Given the description of an element on the screen output the (x, y) to click on. 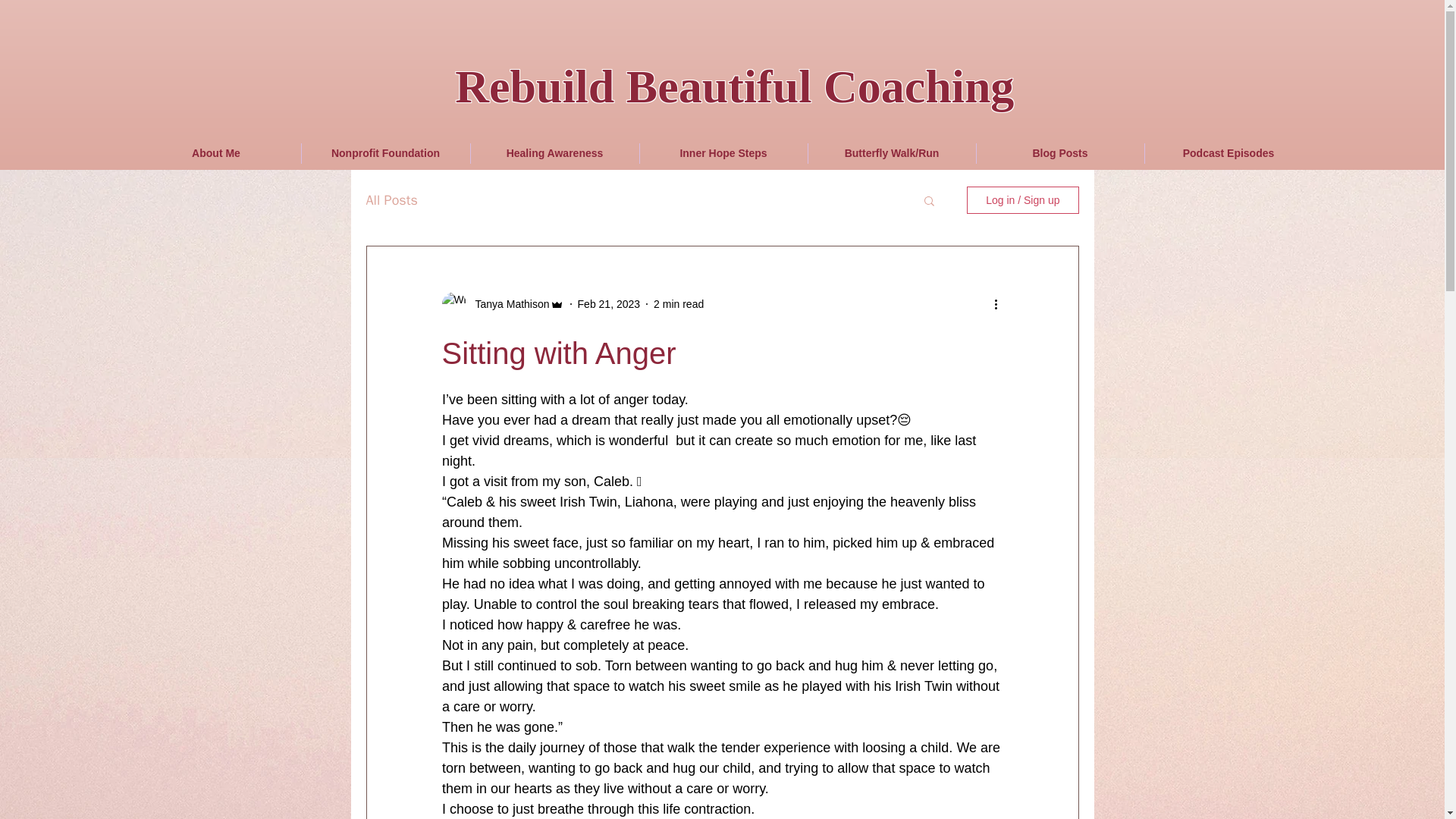
Nonprofit Foundation (385, 153)
Inner Hope Steps (724, 153)
About Me (216, 153)
All Posts (390, 199)
Podcast Episodes (1228, 153)
Tanya Mathison (506, 303)
Blog Posts (1060, 153)
Healing Awareness (554, 153)
2 min read (678, 303)
Feb 21, 2023 (609, 303)
